Given the description of an element on the screen output the (x, y) to click on. 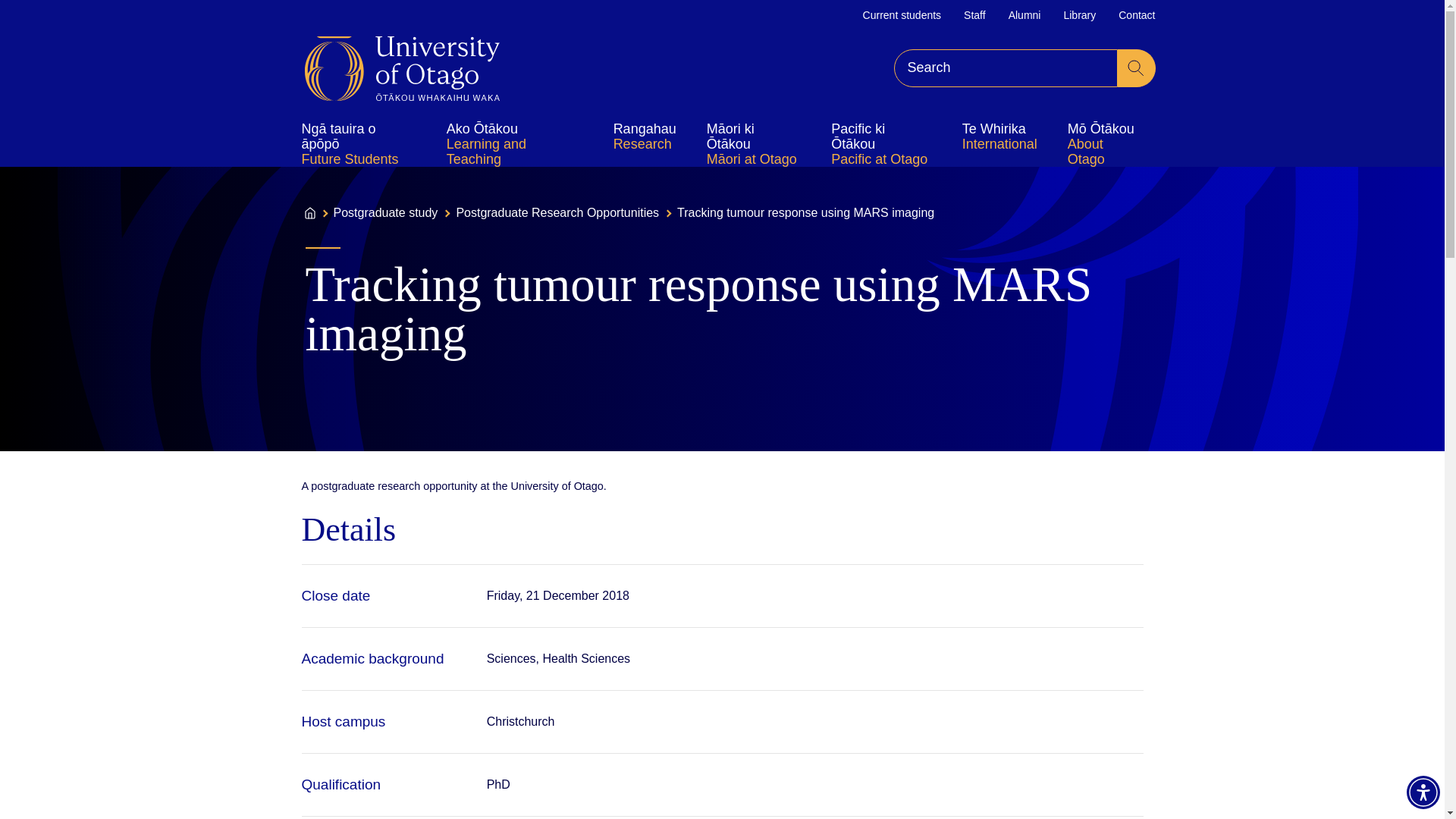
Accessibility Menu (1422, 792)
Contact (1136, 15)
Alumni (1025, 15)
Staff (974, 15)
Current students (902, 15)
Home (402, 68)
Library (1079, 15)
